Given the description of an element on the screen output the (x, y) to click on. 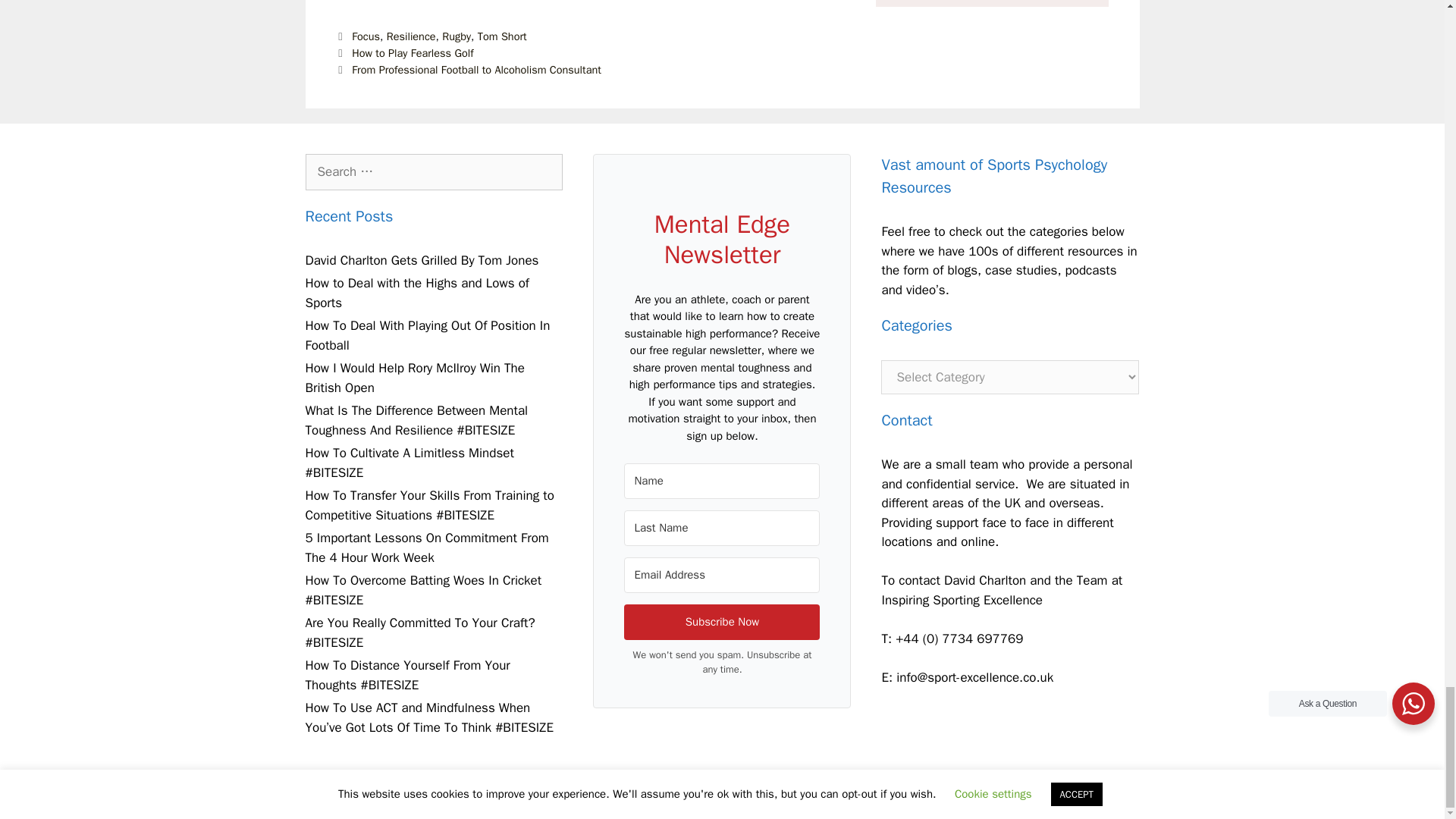
Search for: (433, 171)
